Given the description of an element on the screen output the (x, y) to click on. 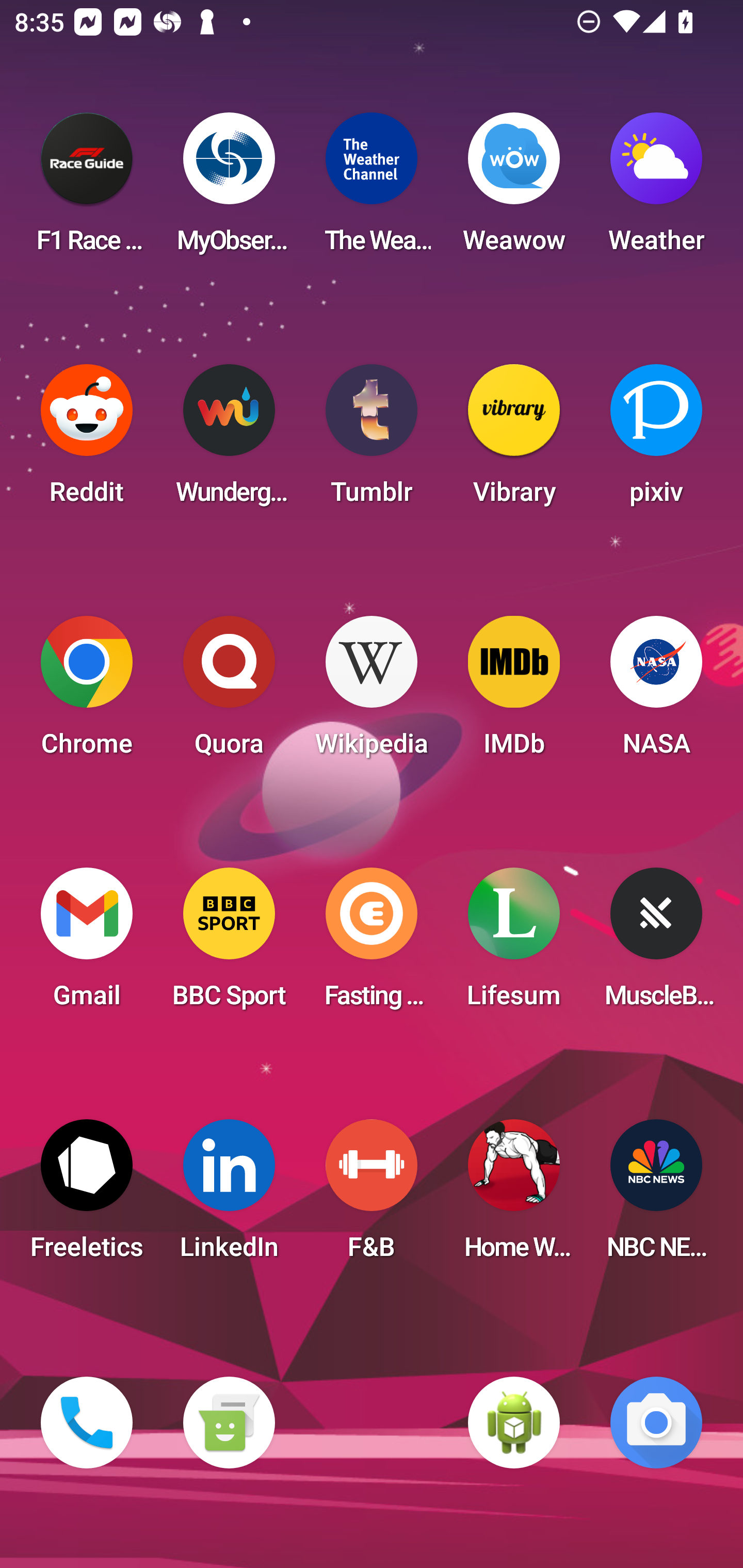
F1 Race Guide (86, 188)
MyObservatory (228, 188)
The Weather Channel (371, 188)
Weawow (513, 188)
Weather (656, 188)
Reddit (86, 440)
Wunderground (228, 440)
Tumblr (371, 440)
Vibrary (513, 440)
pixiv (656, 440)
Chrome (86, 692)
Quora (228, 692)
Wikipedia (371, 692)
IMDb (513, 692)
NASA (656, 692)
Gmail (86, 943)
BBC Sport (228, 943)
Fasting Coach (371, 943)
Lifesum (513, 943)
MuscleBooster (656, 943)
Freeletics (86, 1195)
LinkedIn (228, 1195)
F&B (371, 1195)
Home Workout (513, 1195)
NBC NEWS (656, 1195)
Phone (86, 1422)
Messaging (228, 1422)
WebView Browser Tester (513, 1422)
Camera (656, 1422)
